Given the description of an element on the screen output the (x, y) to click on. 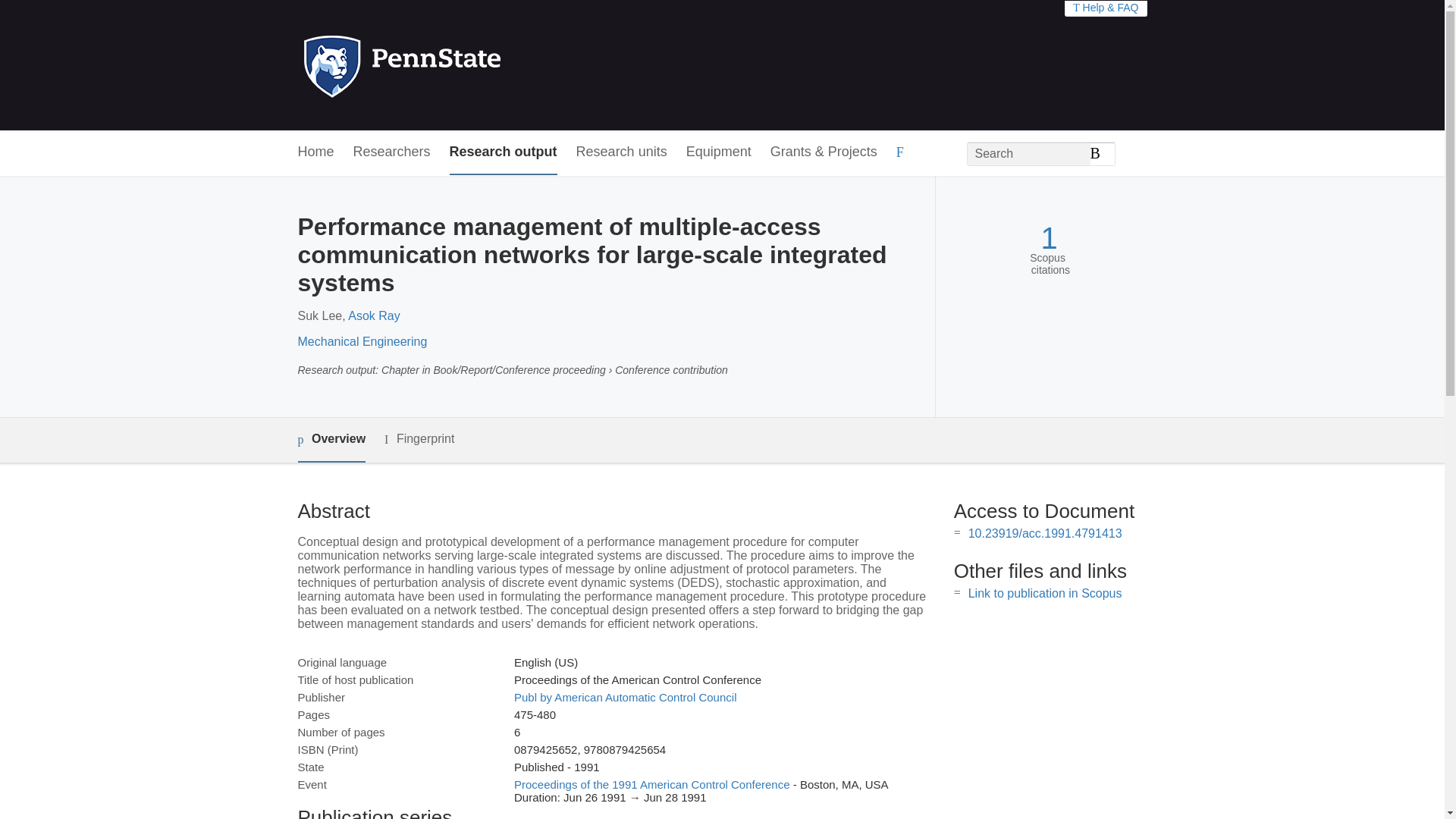
Publ by American Automatic Control Council (624, 697)
Asok Ray (372, 315)
Equipment (718, 152)
Overview (331, 439)
Fingerprint (419, 439)
Link to publication in Scopus (1045, 593)
Mechanical Engineering (361, 341)
Researchers (391, 152)
Penn State Home (467, 65)
Research output (503, 152)
Research units (621, 152)
Proceedings of the 1991 American Control Conference (651, 784)
